Given the description of an element on the screen output the (x, y) to click on. 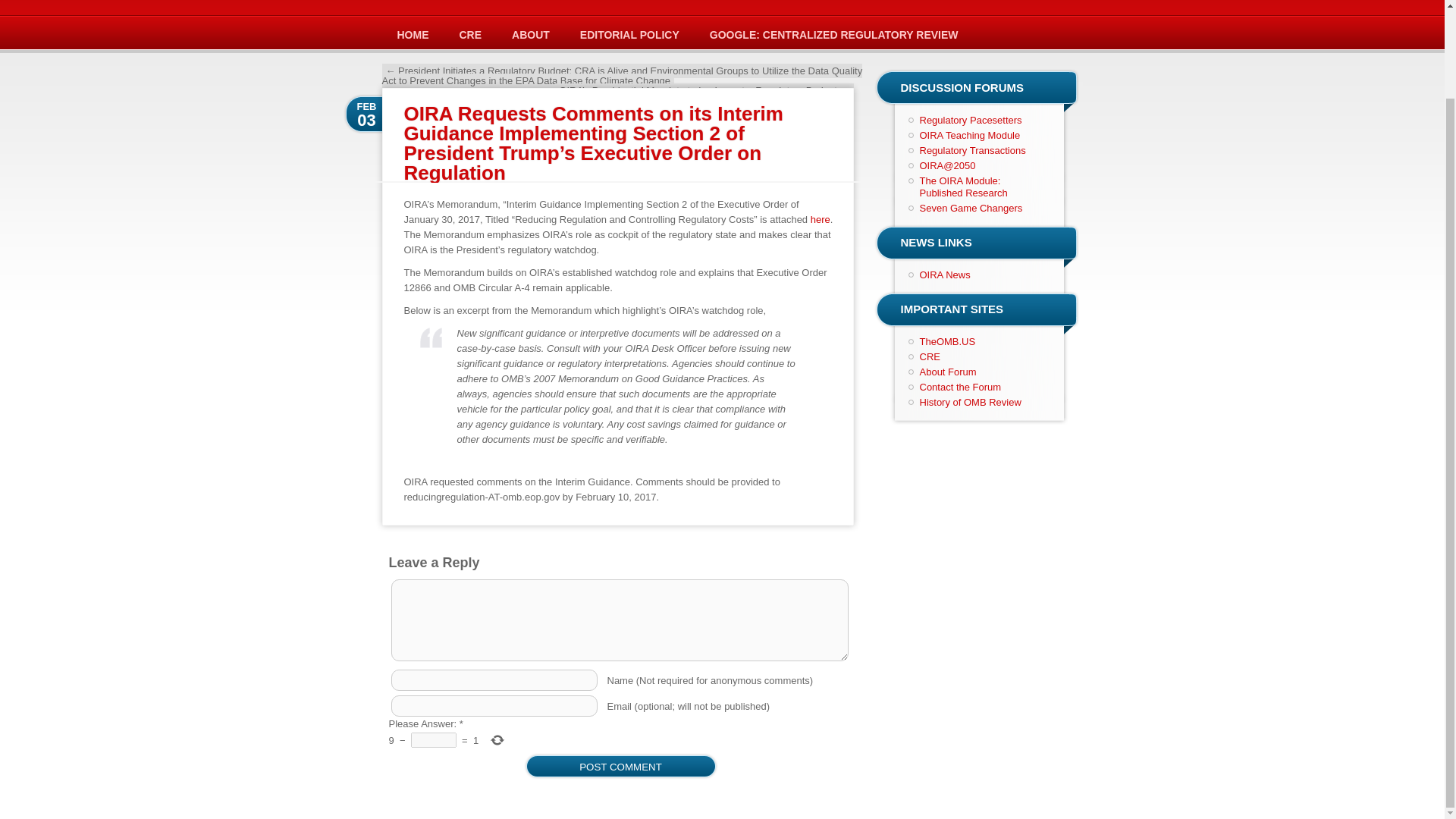
Contact the Forum (959, 387)
here (819, 219)
The OIRA Module: Published Research (962, 187)
About Forum (946, 371)
HOME (412, 34)
Regulatory Pacesetters (970, 120)
Post Comment (620, 766)
EDITORIAL POLICY (629, 34)
GOOGLE: CENTRALIZED REGULATORY REVIEW (834, 34)
OIRA Teaching Module (969, 134)
ABOUT (530, 34)
CRE (928, 356)
TheOMB.US (946, 341)
History of OMB Review (969, 401)
Seven Game Changers (970, 207)
